Given the description of an element on the screen output the (x, y) to click on. 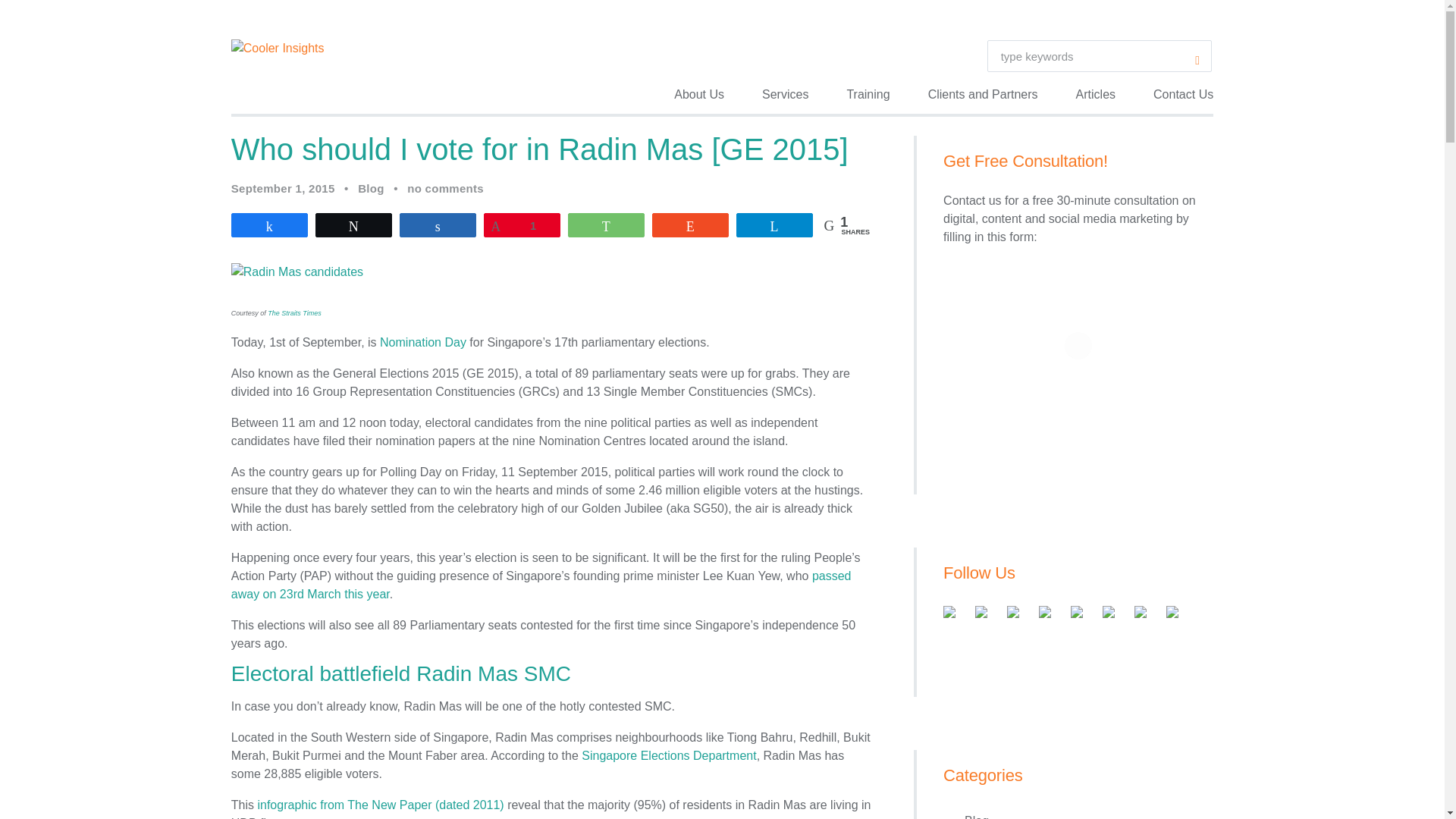
Follow us on LinkedIn (1045, 612)
no comments (445, 188)
Find us on YouTube (1114, 617)
Follow my Tumblr account (1140, 612)
Follow us on Twitter (986, 617)
1 (521, 224)
Clients and Partners (982, 94)
About Us (699, 94)
Follow my Tumblr account (1146, 617)
Follow us on Facebook (955, 617)
Subscribe to our RSS Feed (1082, 617)
The Straits Times (293, 312)
Follow us on LinkedIn (1050, 617)
Blog (371, 188)
Nomination Day (422, 341)
